Given the description of an element on the screen output the (x, y) to click on. 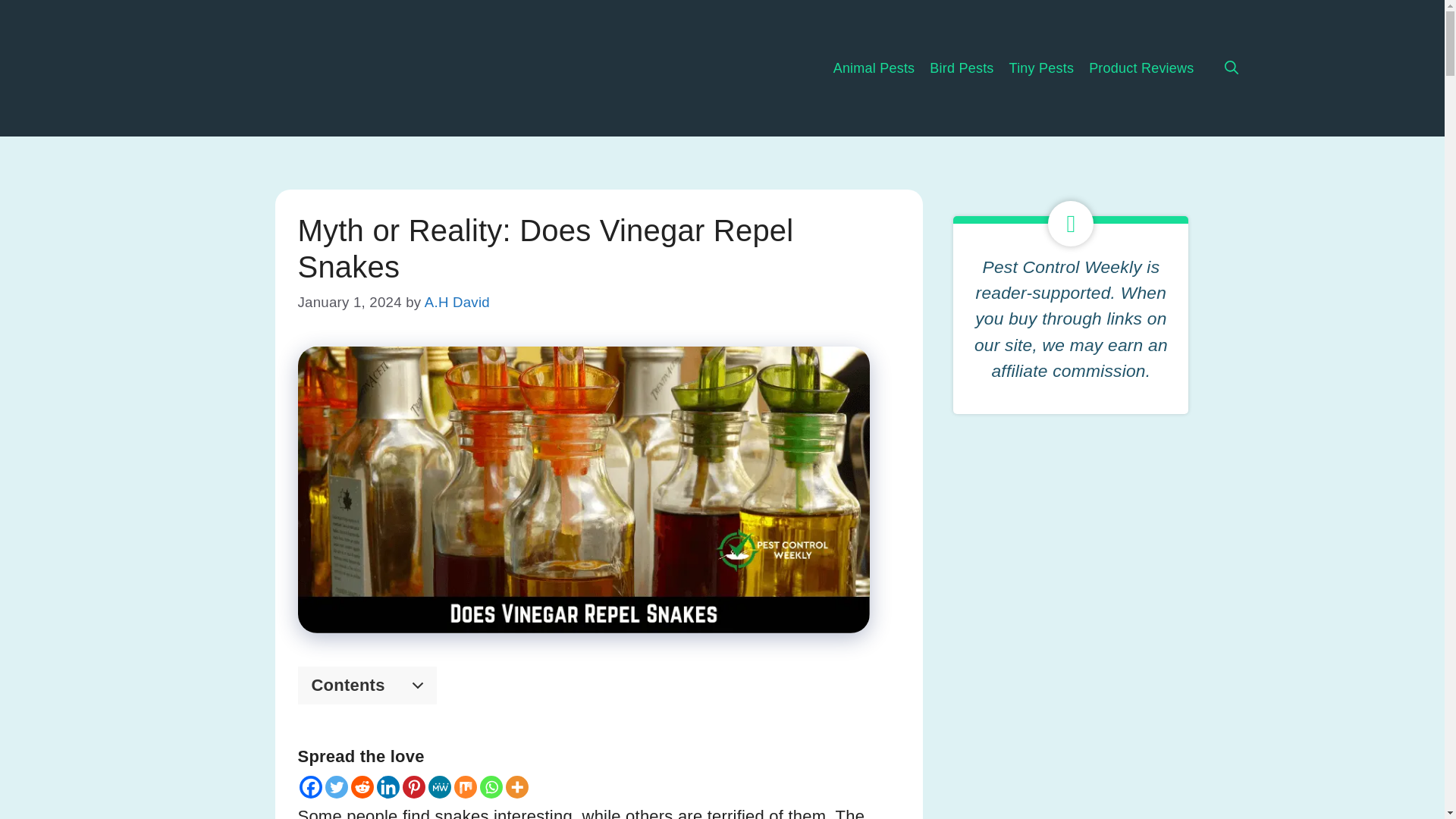
A.H David (457, 302)
Bird Pests (953, 67)
View all posts by A.H David (457, 302)
Pest Control Weekly (315, 68)
Animal Pests (866, 67)
Product Reviews (1141, 67)
Tiny Pests (1034, 67)
